Given the description of an element on the screen output the (x, y) to click on. 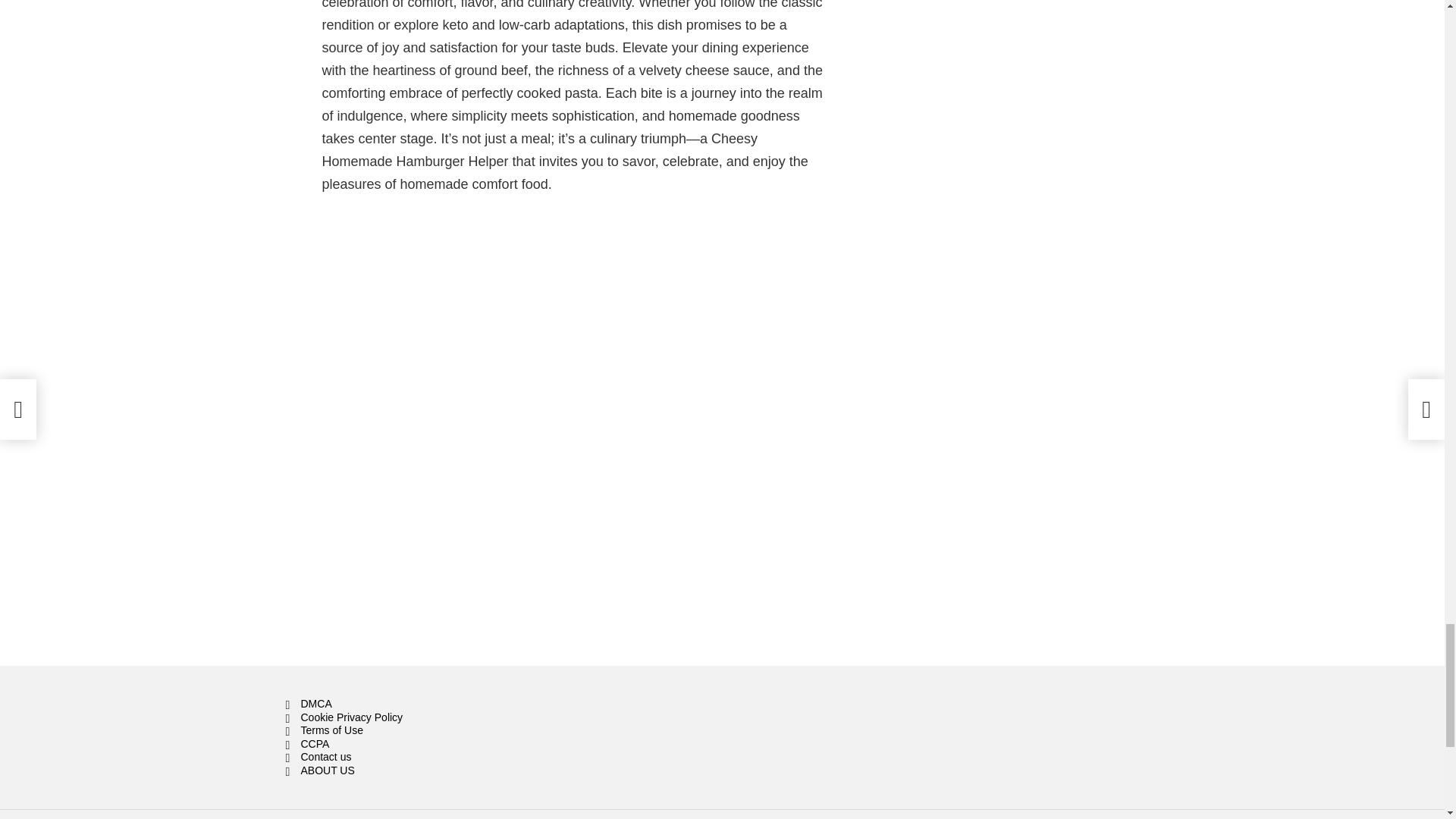
DMCA (422, 704)
CCPA (422, 744)
ABOUT US (422, 771)
Contact us (422, 757)
Cookie Privacy Policy (422, 717)
Terms of Use (422, 730)
